Given the description of an element on the screen output the (x, y) to click on. 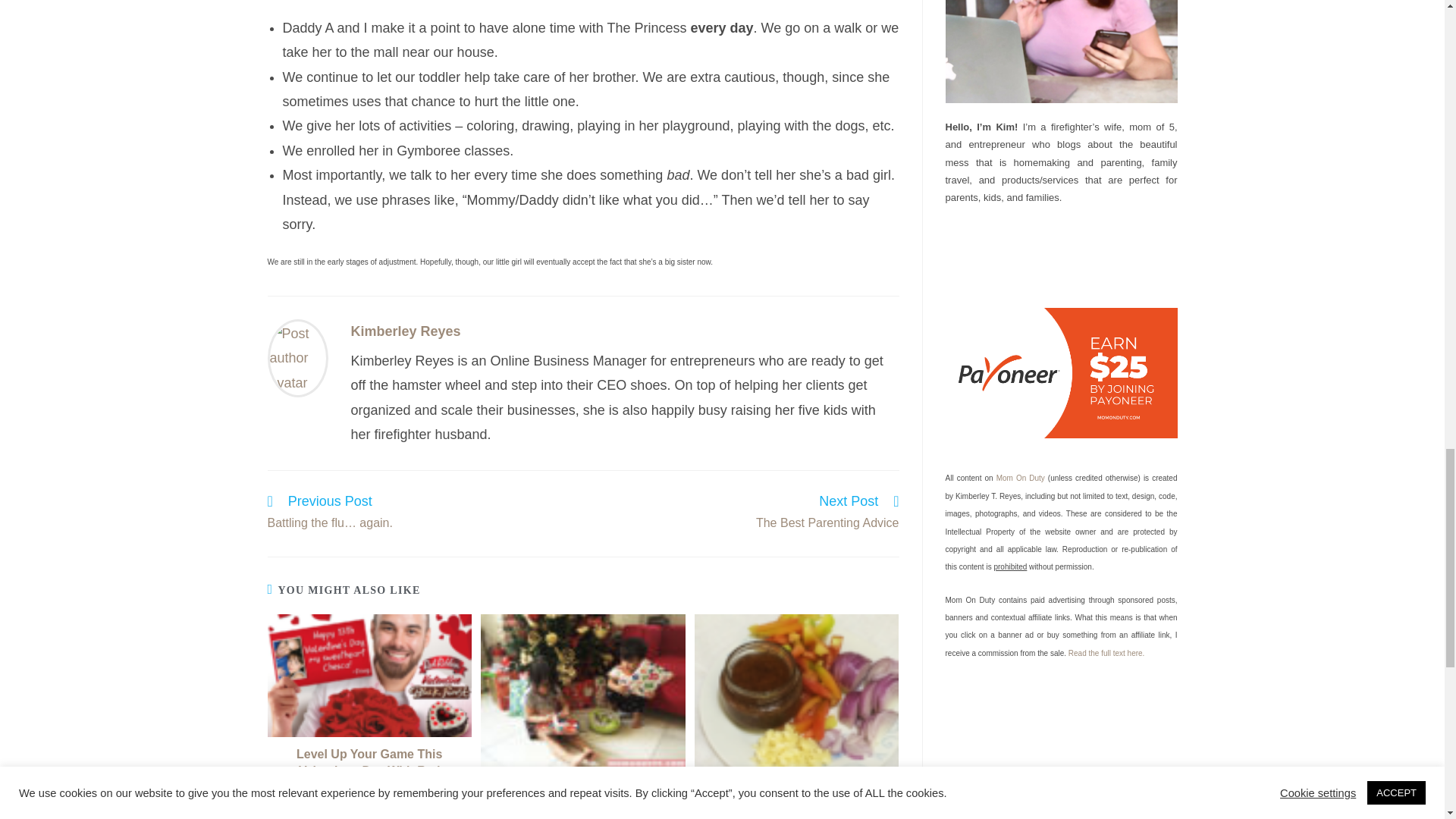
Visit author page (405, 331)
Visit author page (296, 356)
